Given the description of an element on the screen output the (x, y) to click on. 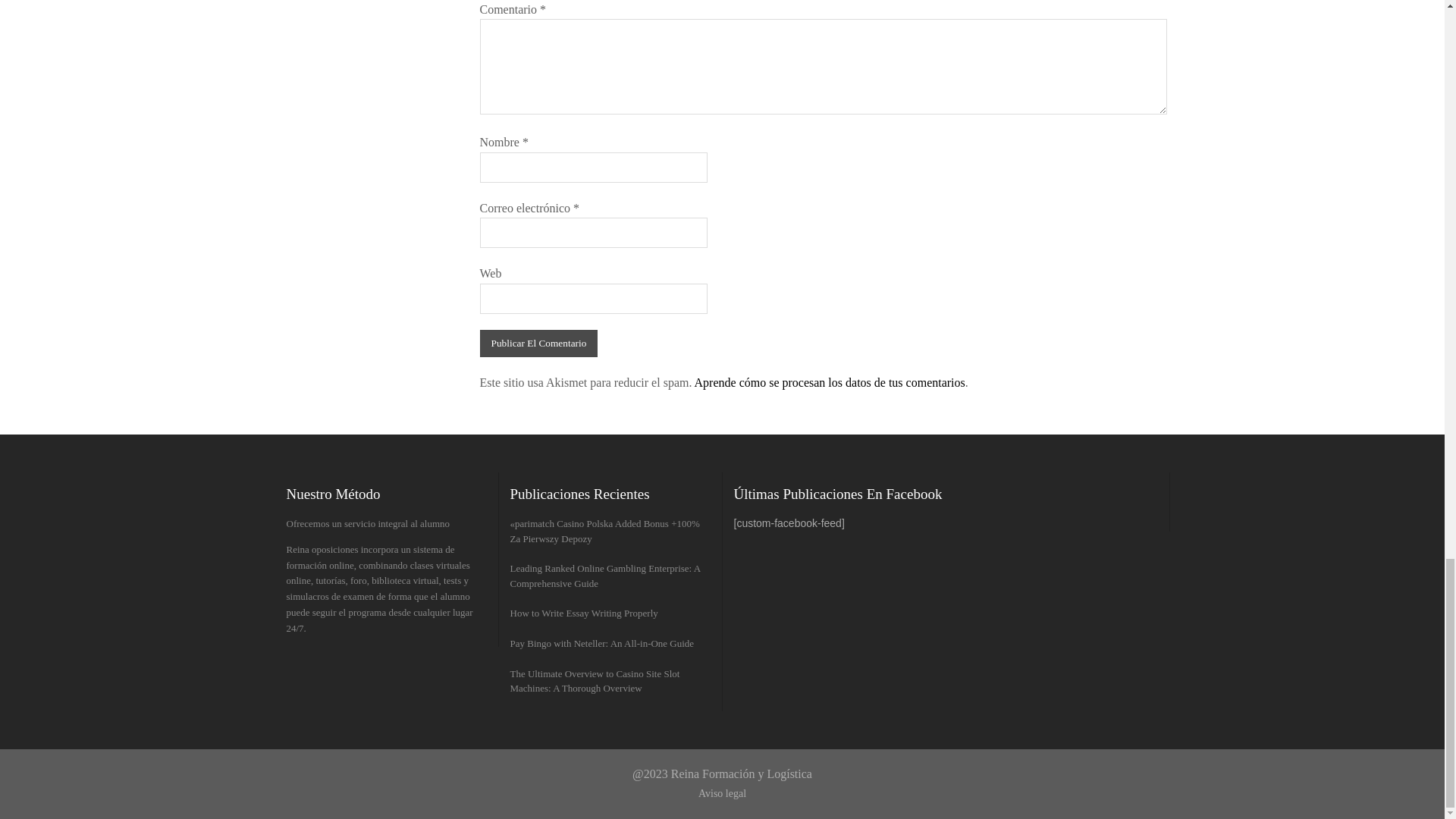
Aviso legal (721, 793)
Publicar el comentario (537, 343)
Publicar el comentario (537, 343)
Pay Bingo with Neteller: An All-in-One Guide (601, 643)
How to Write Essay Writing Properly (583, 613)
